Given the description of an element on the screen output the (x, y) to click on. 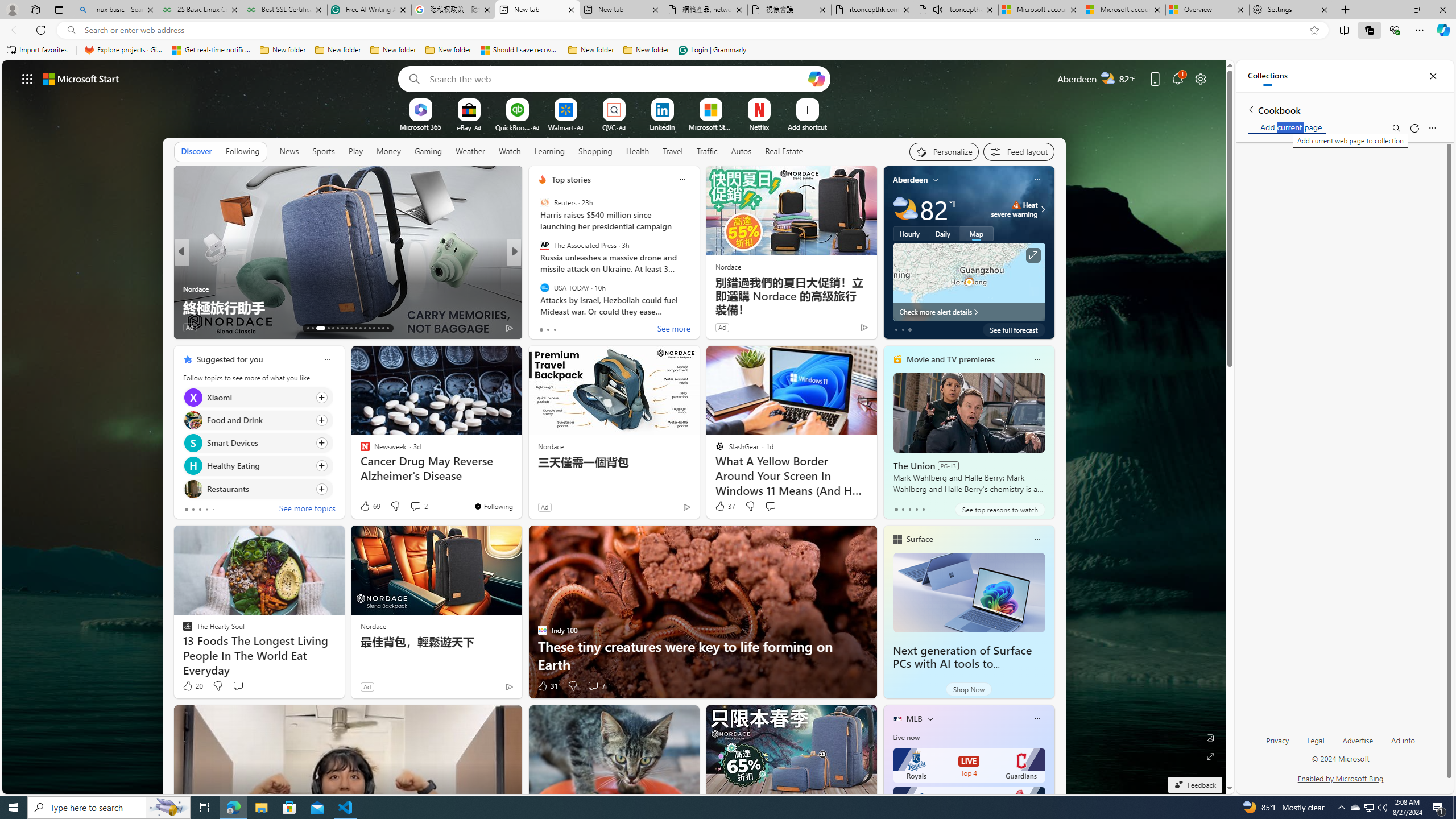
12 Annoying Myths That Are Still Around (697, 307)
Back to list of collections (1250, 109)
110 Like (194, 327)
Netflix (758, 126)
48 Like (543, 327)
Click to follow topic Xiaomi (257, 397)
Feed settings (1018, 151)
